Given the description of an element on the screen output the (x, y) to click on. 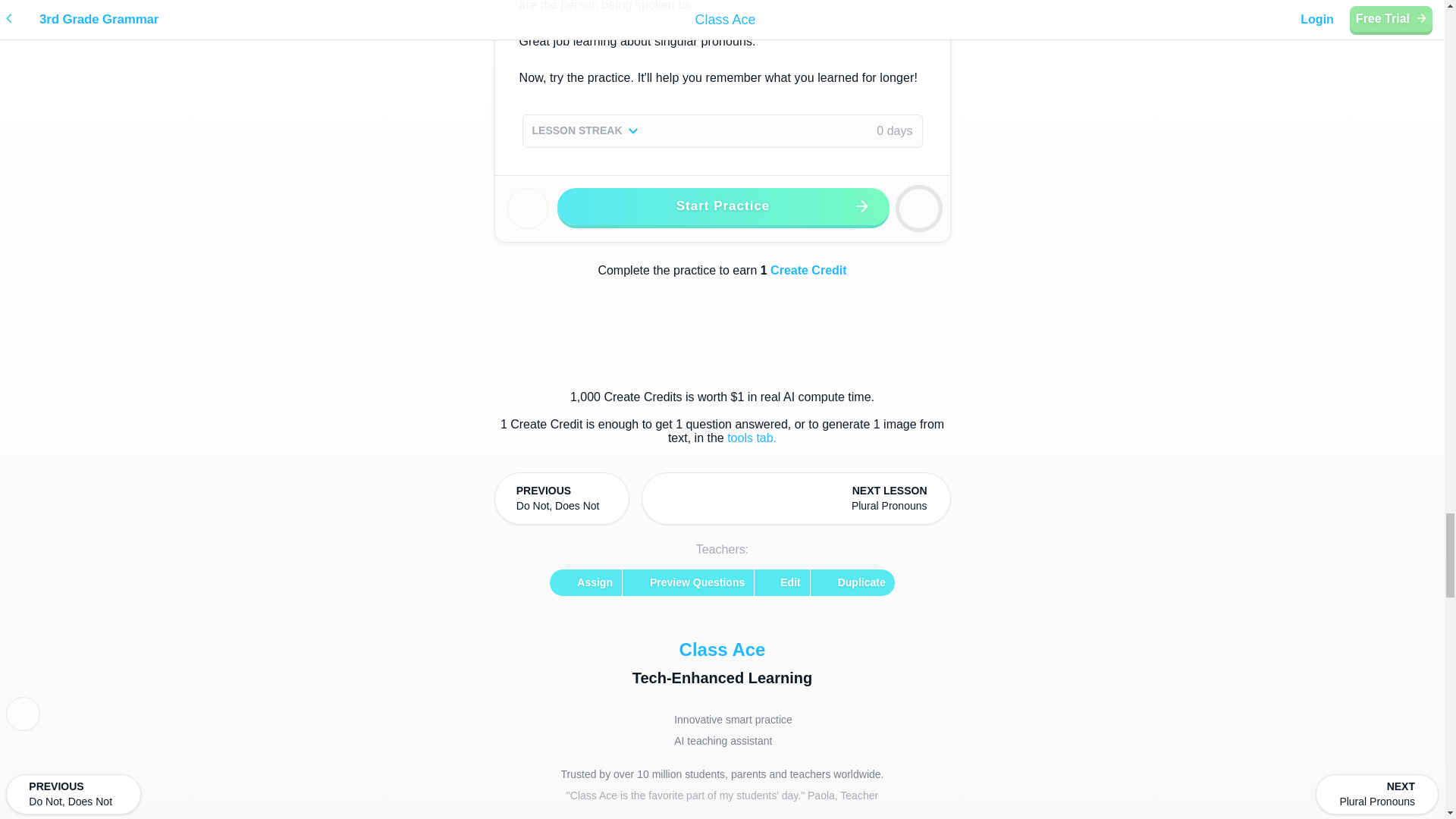
Edit (781, 582)
Preview Questions (561, 498)
